Given the description of an element on the screen output the (x, y) to click on. 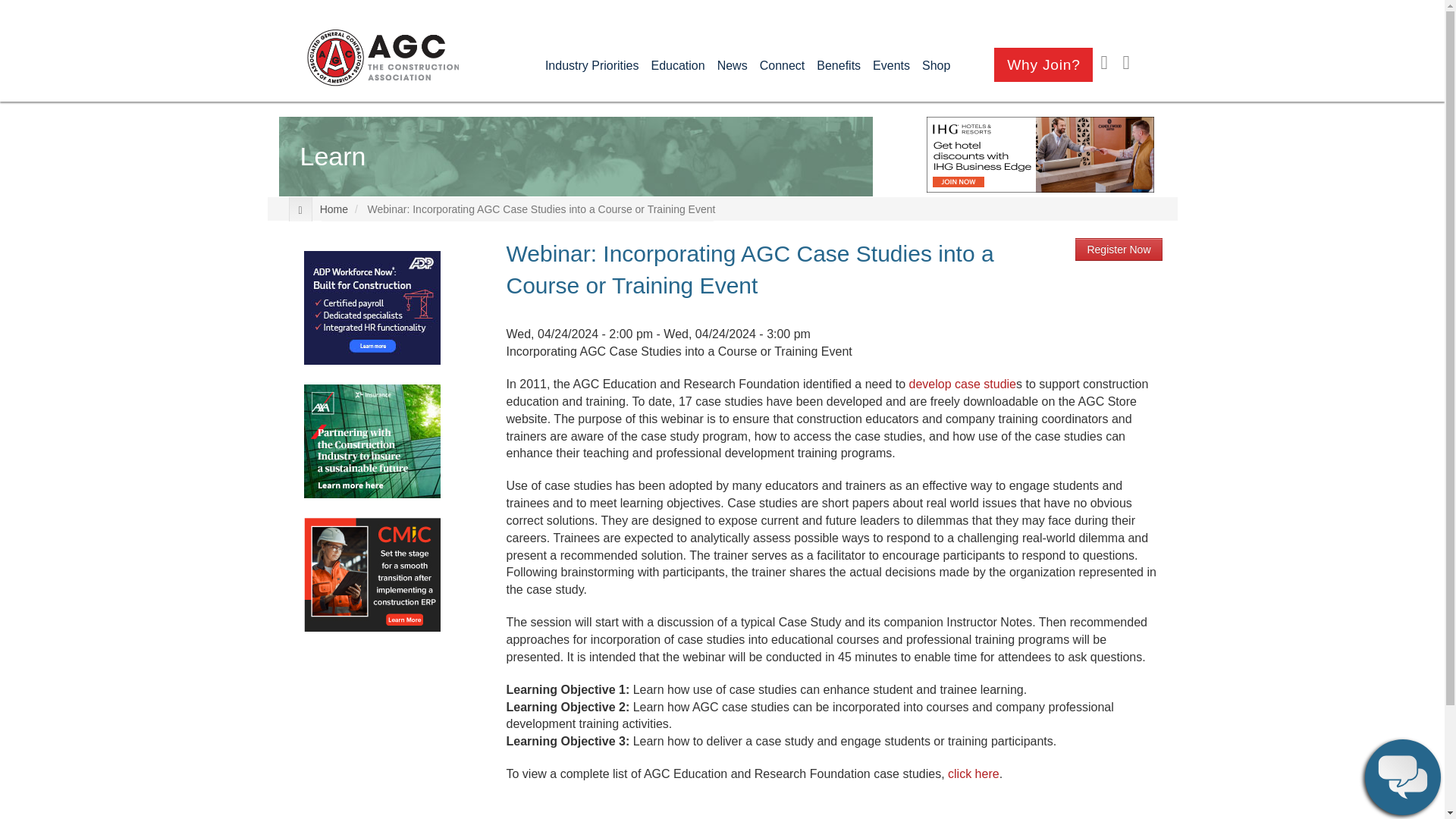
Home (382, 57)
Industry Priorities (591, 65)
Industry Priorities (591, 65)
